Given the description of an element on the screen output the (x, y) to click on. 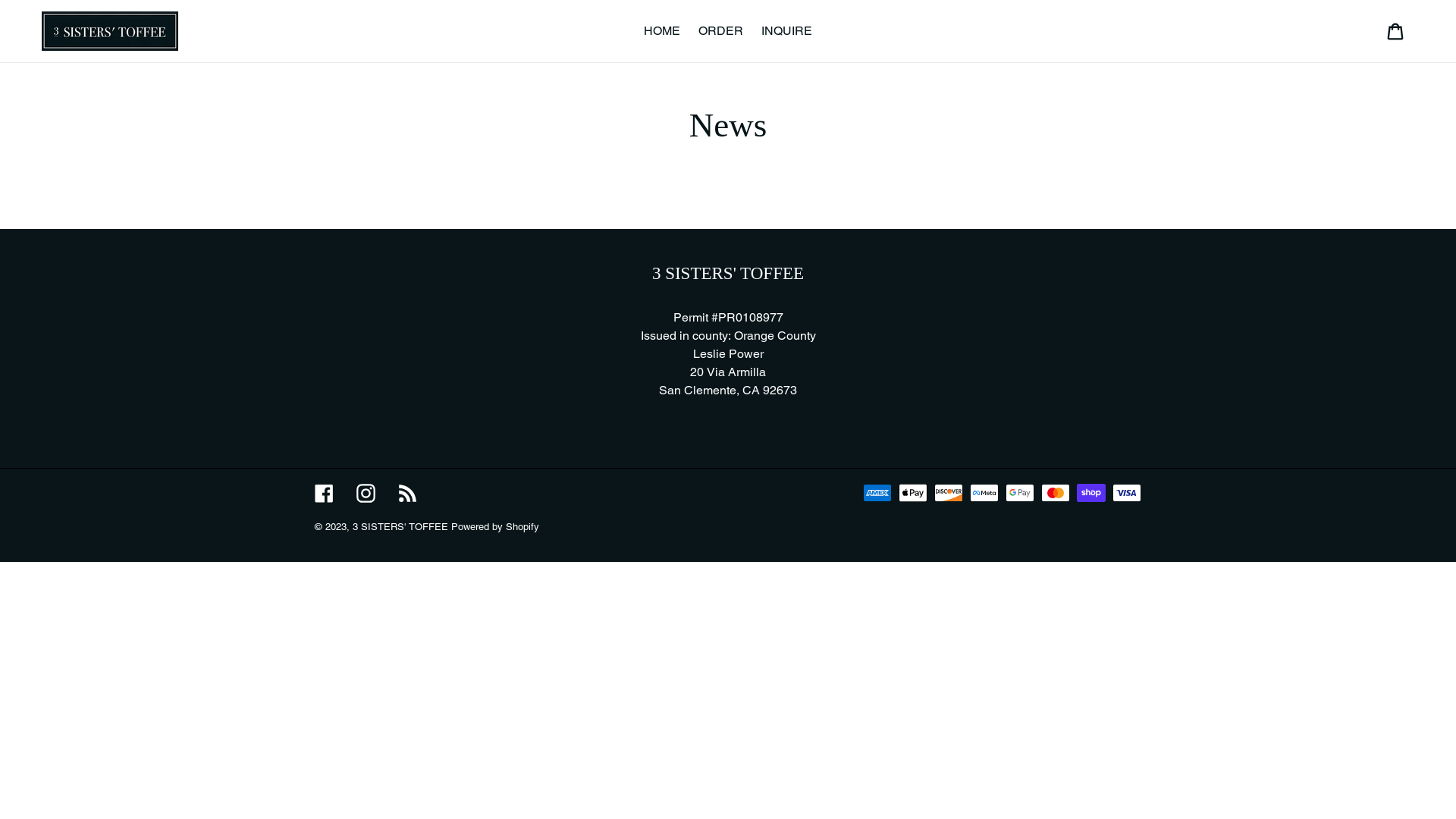
INQUIRE Element type: text (786, 30)
HOME Element type: text (661, 30)
Facebook Element type: text (323, 492)
Powered by Shopify Element type: text (495, 526)
RSS Element type: text (407, 492)
ORDER Element type: text (720, 30)
Cart Element type: text (1396, 30)
Instagram Element type: text (365, 492)
3 SISTERS' TOFFEE Element type: text (400, 526)
